Given the description of an element on the screen output the (x, y) to click on. 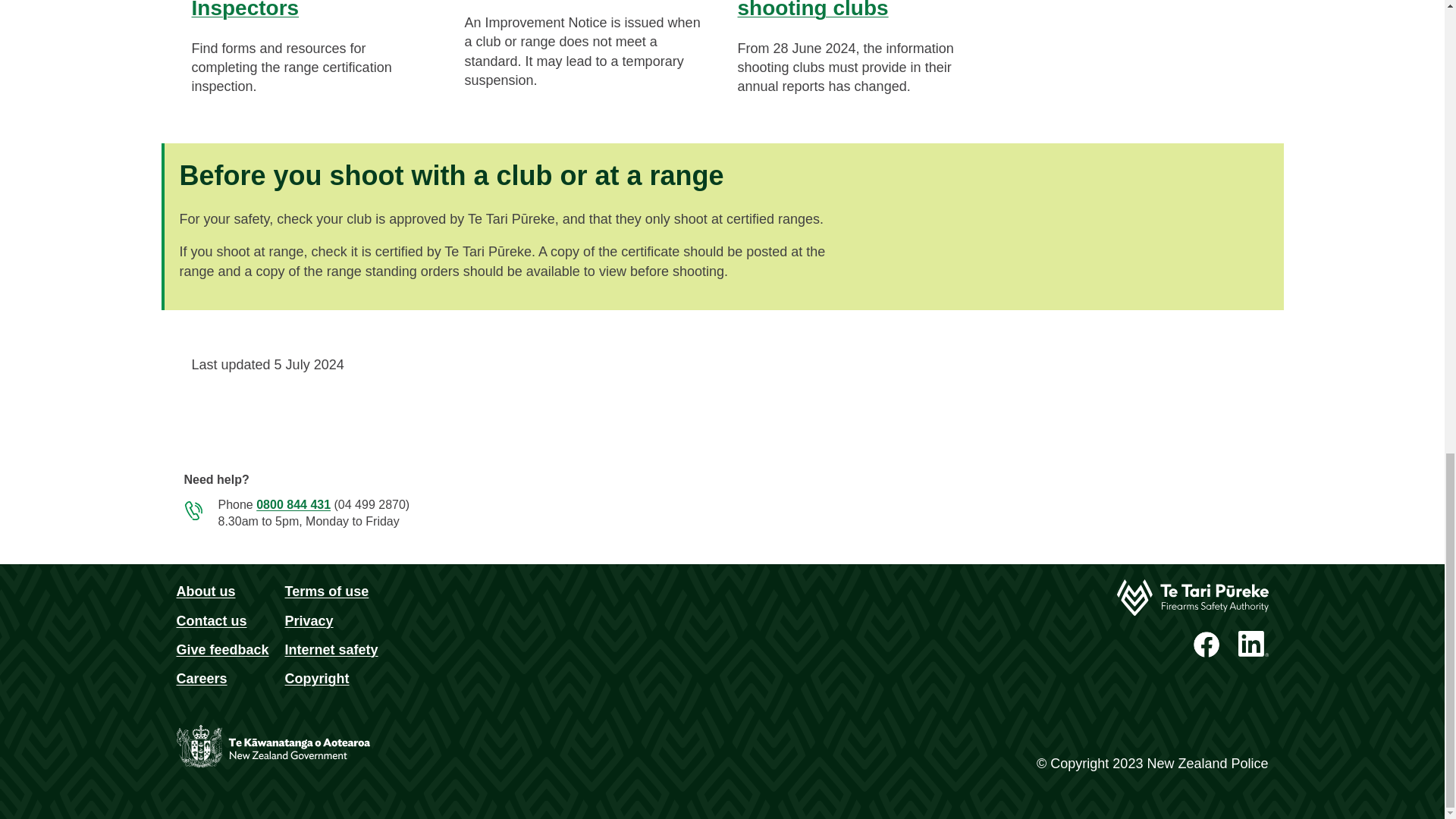
Home (1192, 597)
